Given the description of an element on the screen output the (x, y) to click on. 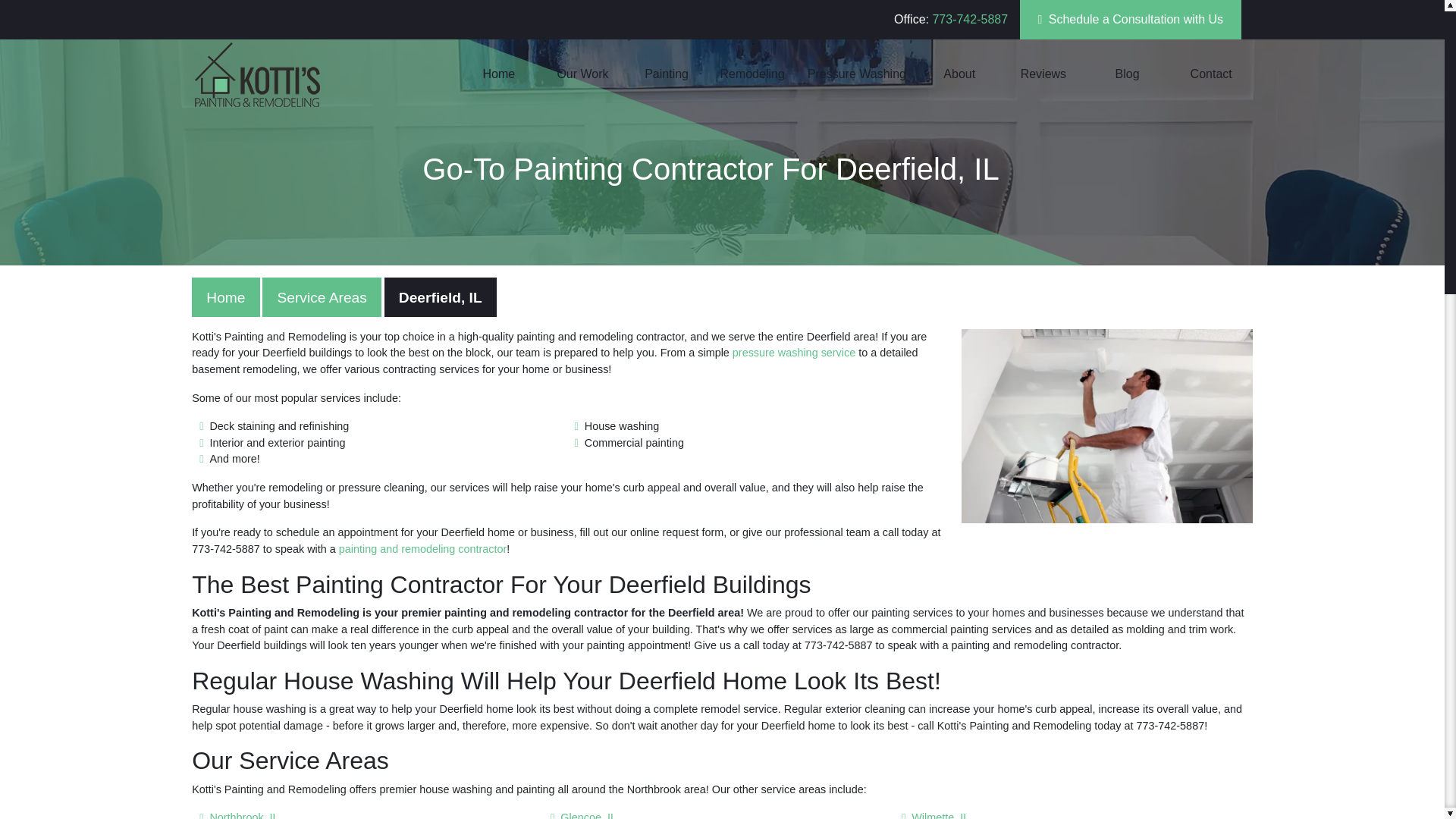
Schedule a Consultation with Us (1130, 19)
773-742-5887 (969, 19)
Our Work (581, 73)
Painting (666, 73)
Home (498, 73)
